Given the description of an element on the screen output the (x, y) to click on. 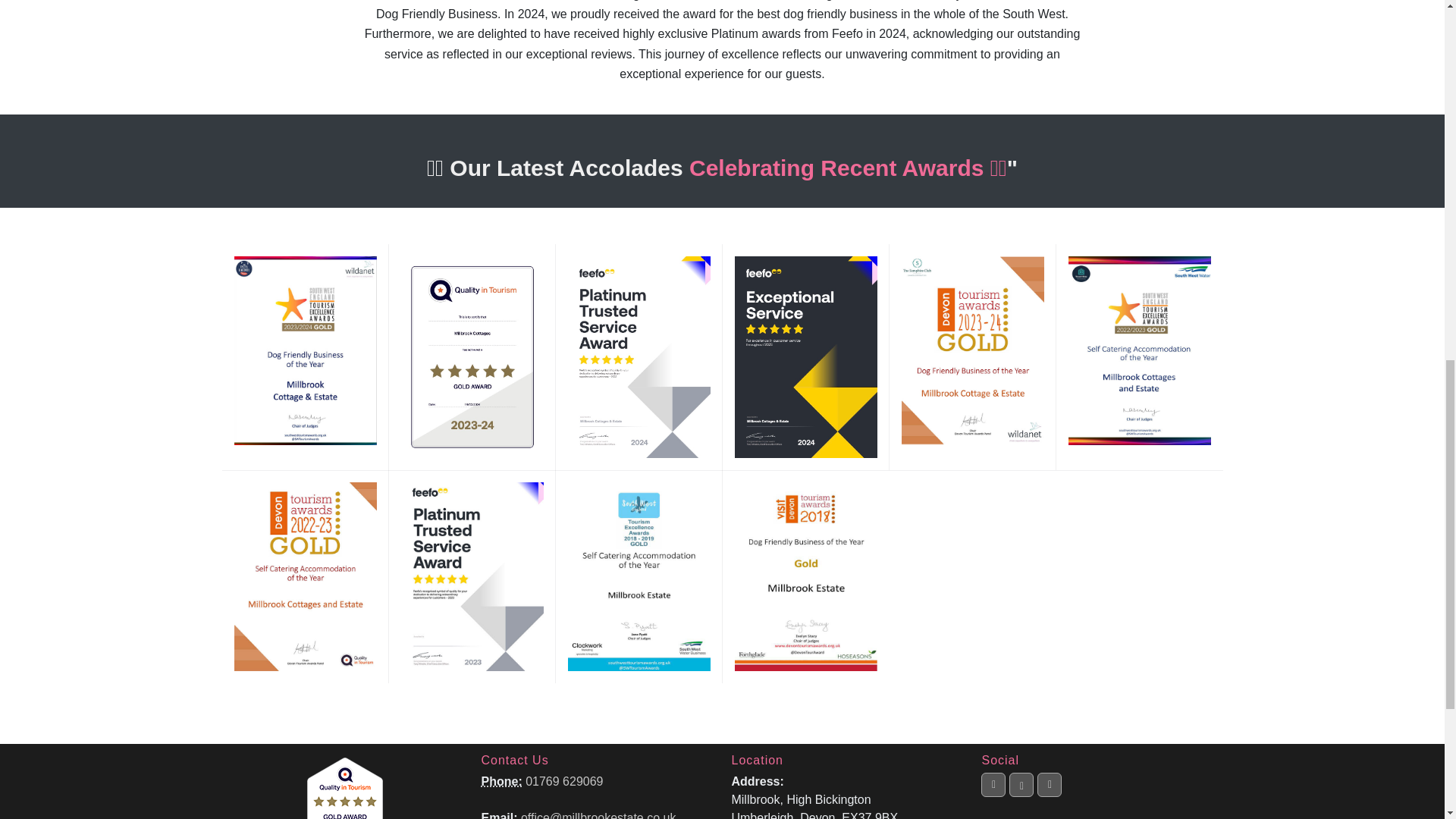
facebook (992, 784)
Phone Number (500, 780)
vimeo (1049, 807)
facebook (992, 807)
Email Address (498, 815)
instagram (1021, 785)
vimeo (1049, 784)
